Given the description of an element on the screen output the (x, y) to click on. 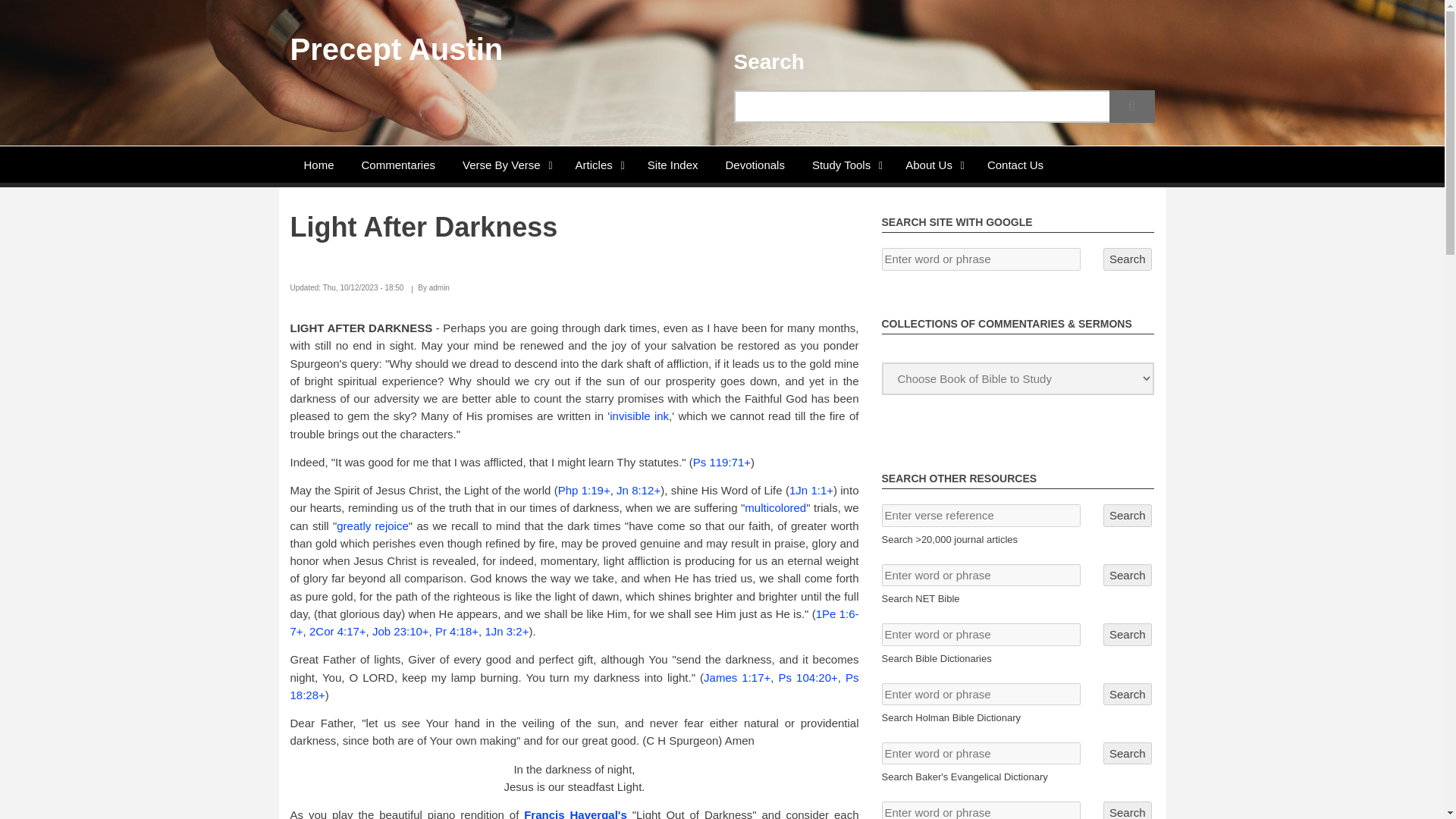
Devotionals (754, 164)
Enter the terms you wish to search for. (943, 106)
Study Tools (844, 164)
Search (1131, 106)
Home (395, 49)
About Us (932, 164)
Precept Austin (395, 49)
invisible ink (639, 415)
Articles (597, 164)
1Pe 1:6-7 (574, 622)
greatly rejoice (372, 525)
Search (1131, 106)
Home (318, 164)
Site Index (672, 164)
2Cor 4:17 (333, 631)
